Given the description of an element on the screen output the (x, y) to click on. 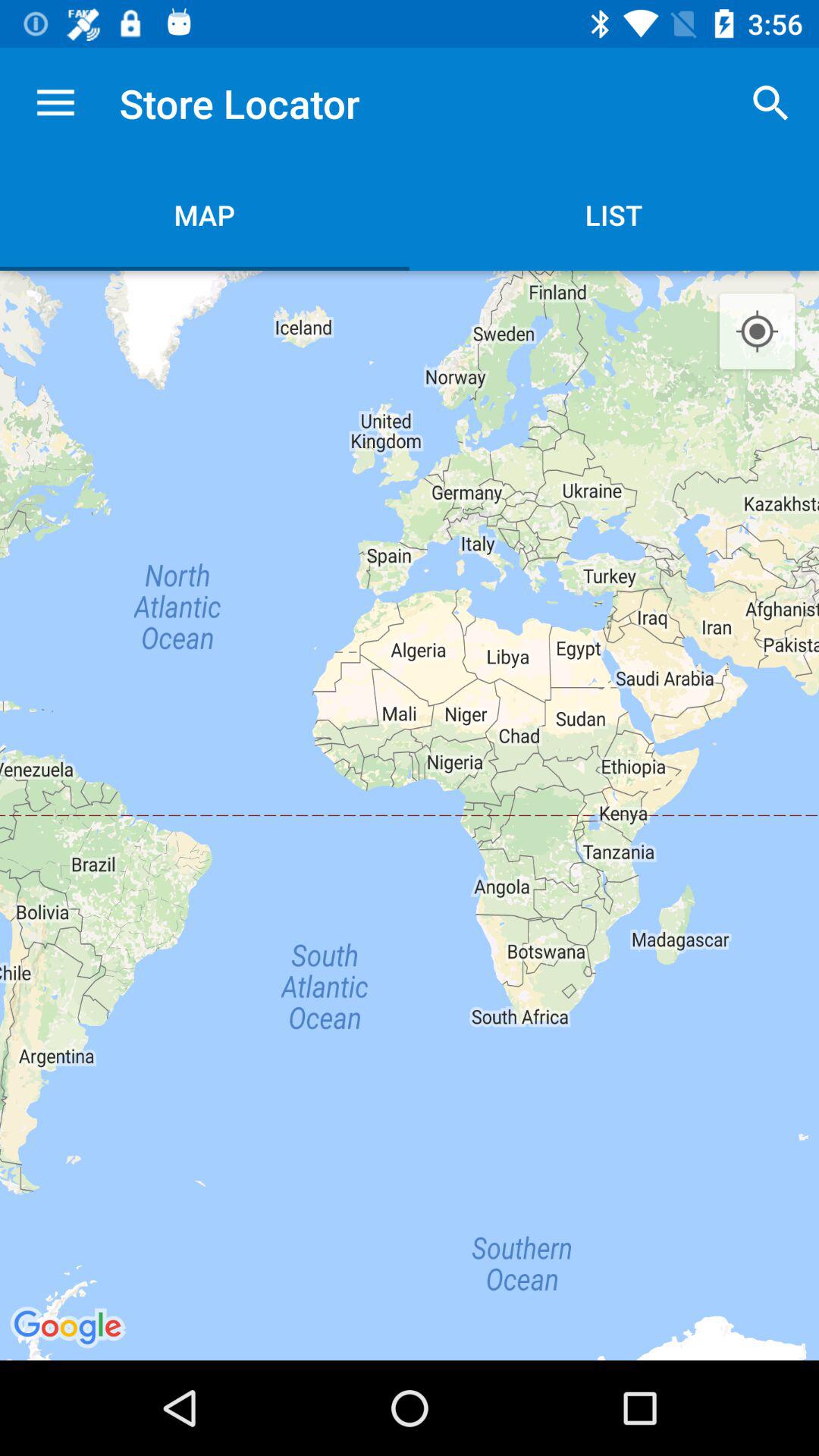
click the icon below the map icon (409, 815)
